Given the description of an element on the screen output the (x, y) to click on. 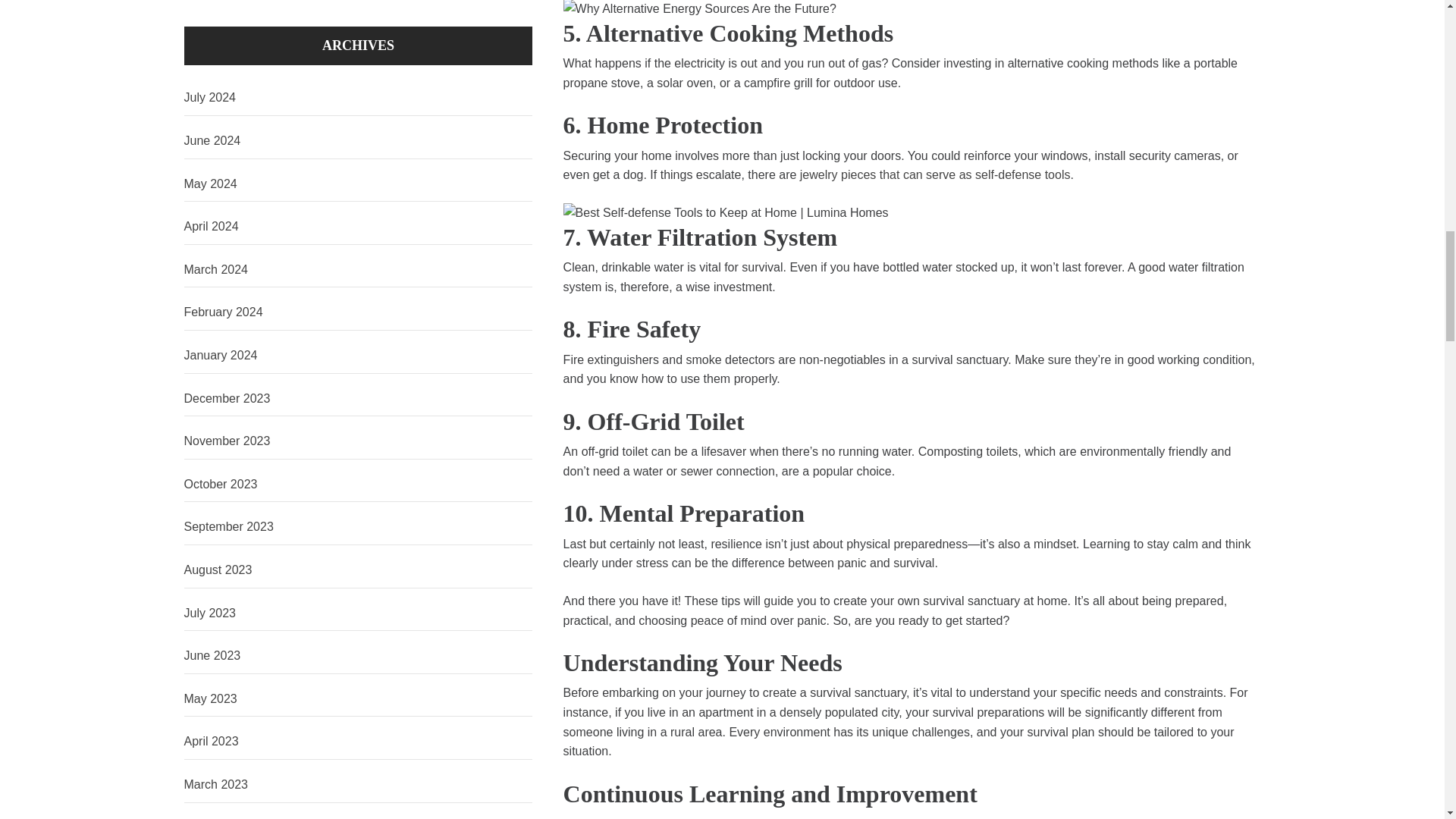
March 2024 (357, 270)
July 2023 (357, 613)
November 2023 (357, 441)
January 2024 (357, 355)
May 2024 (357, 184)
June 2024 (357, 140)
August 2023 (357, 570)
September 2023 (357, 527)
December 2023 (357, 398)
July 2024 (357, 98)
jewelry pieces that can serve as self-defense tools (934, 174)
April 2024 (357, 226)
February 2024 (357, 312)
October 2023 (357, 484)
